Given the description of an element on the screen output the (x, y) to click on. 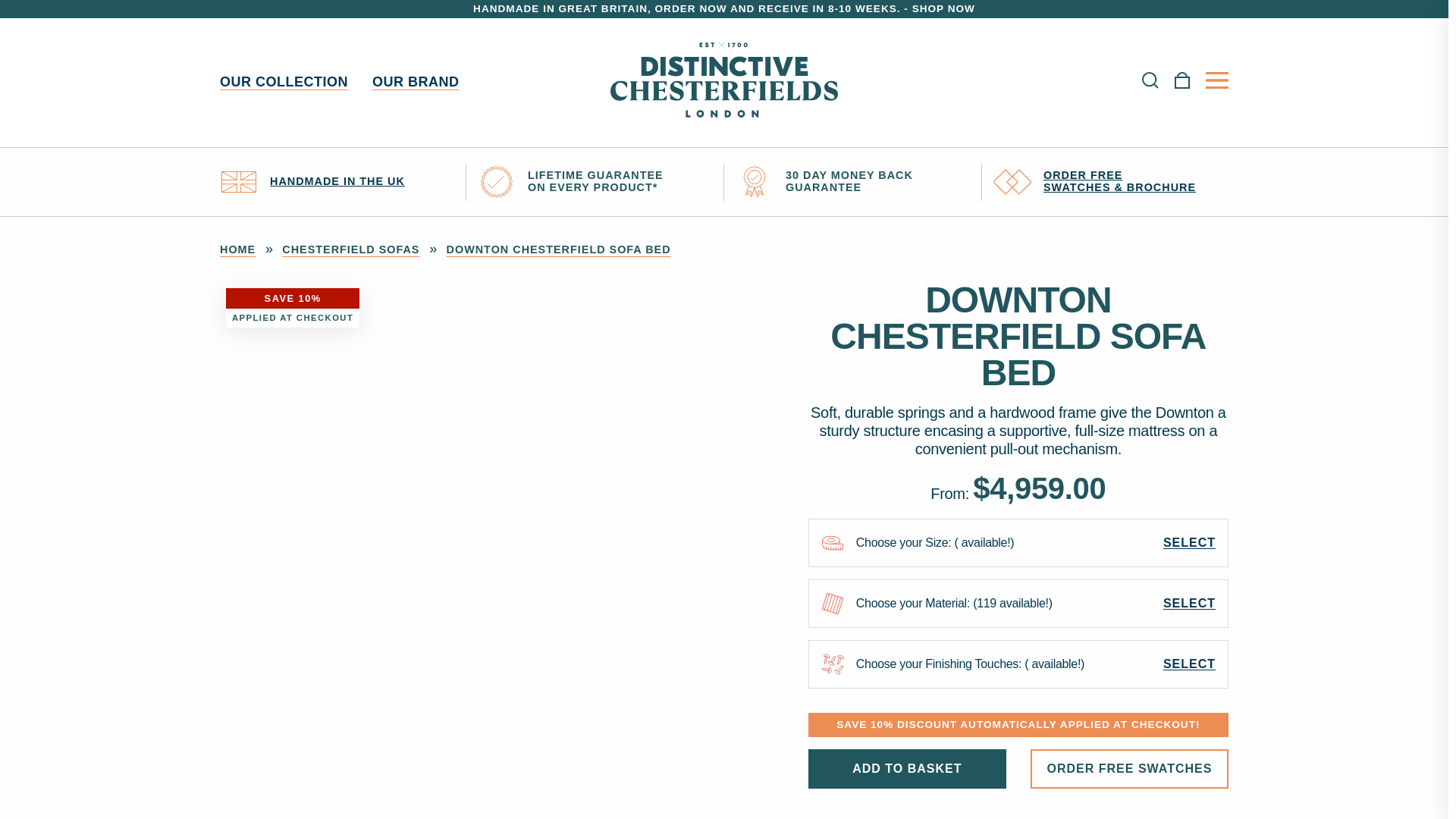
OUR COLLECTION (283, 81)
Distinctive Chesterfields - USA (724, 82)
Menu (1216, 80)
OUR BRAND (416, 81)
SHOP NOW (943, 8)
 View your shopping basket (1181, 83)
Shop Now! (943, 8)
